Given the description of an element on the screen output the (x, y) to click on. 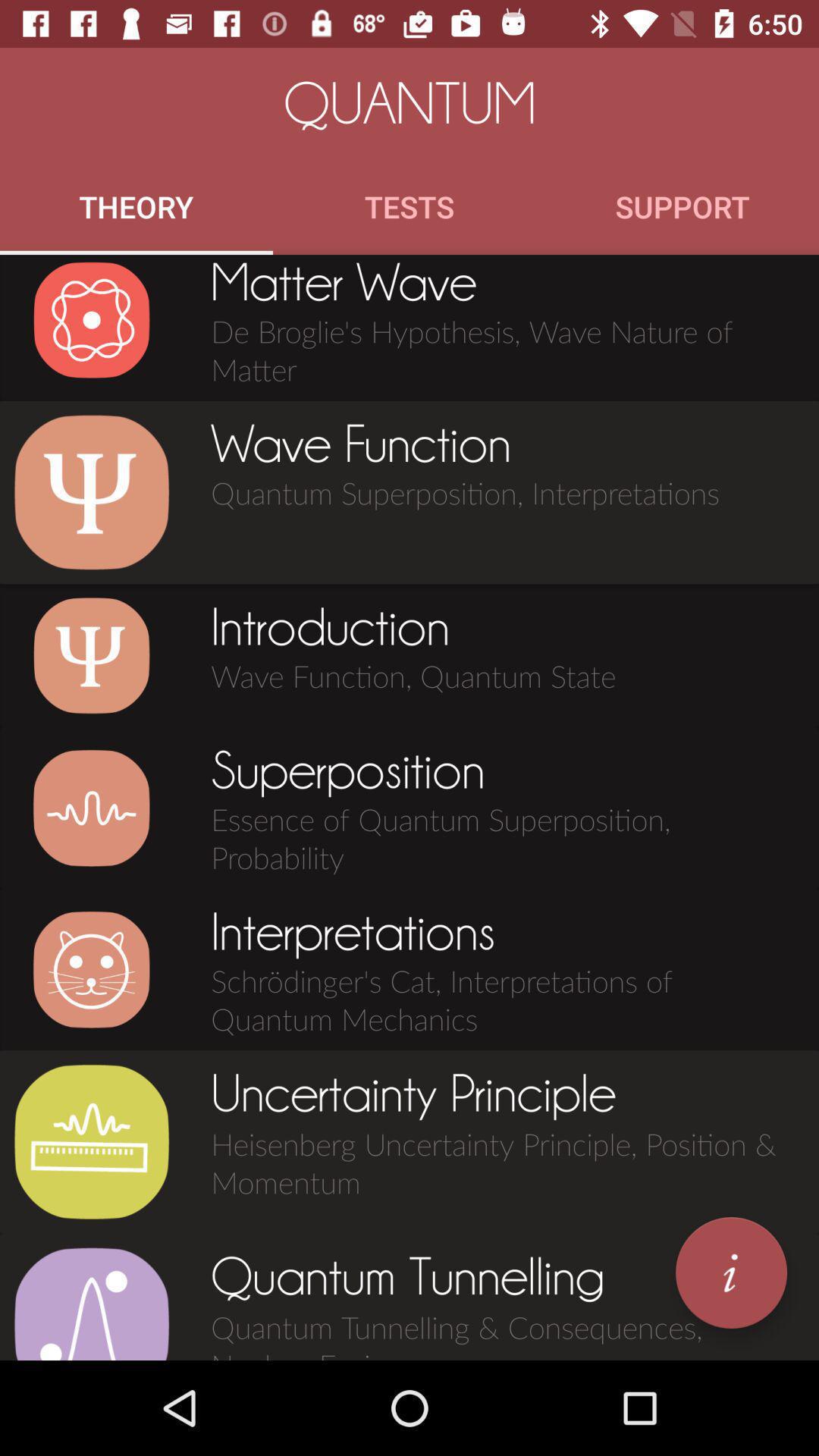
launch the icon to the left of uncertainty principle (91, 1141)
